Given the description of an element on the screen output the (x, y) to click on. 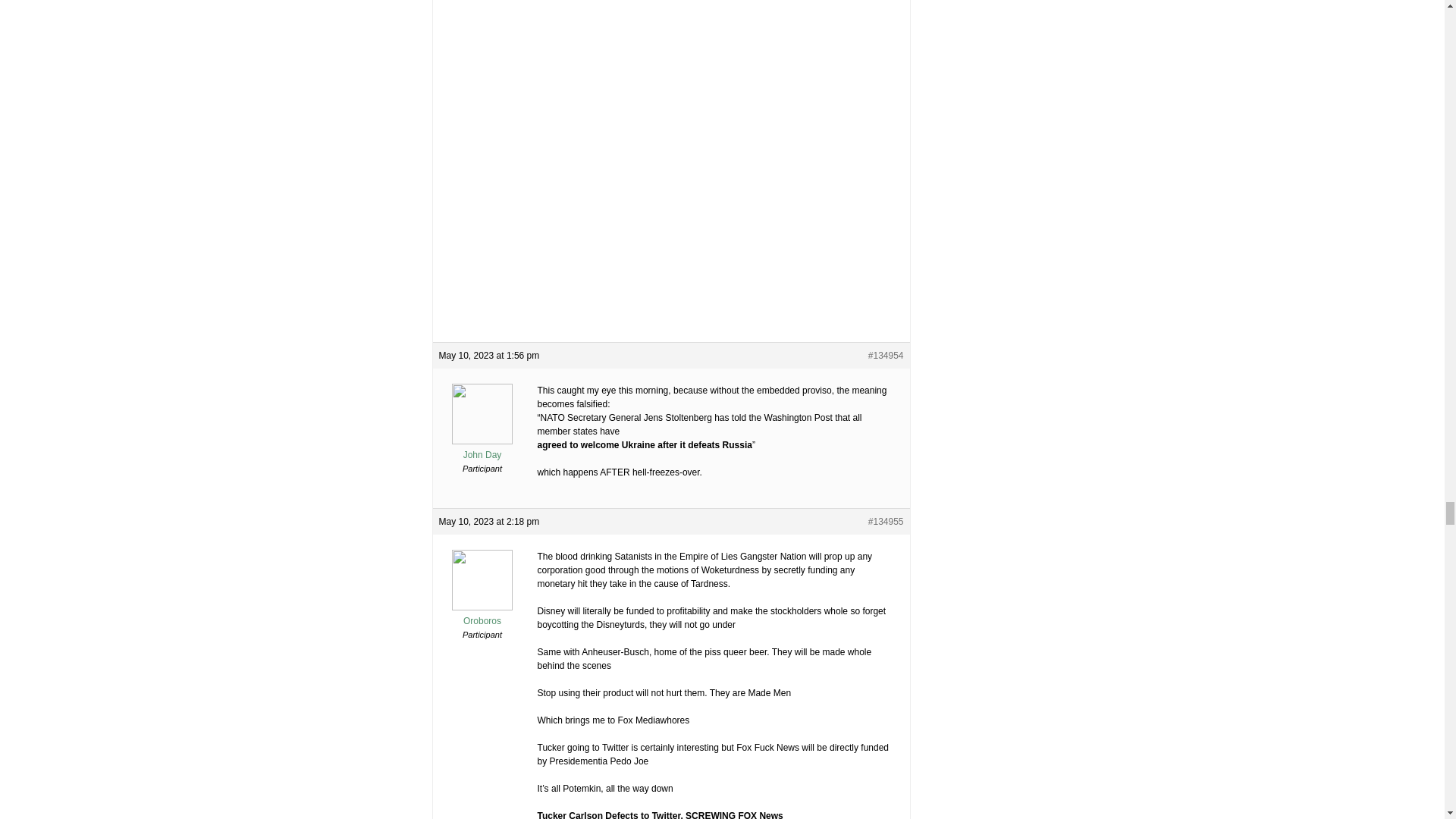
View Oroboros's profile (481, 614)
View John Day's profile (481, 448)
